Given the description of an element on the screen output the (x, y) to click on. 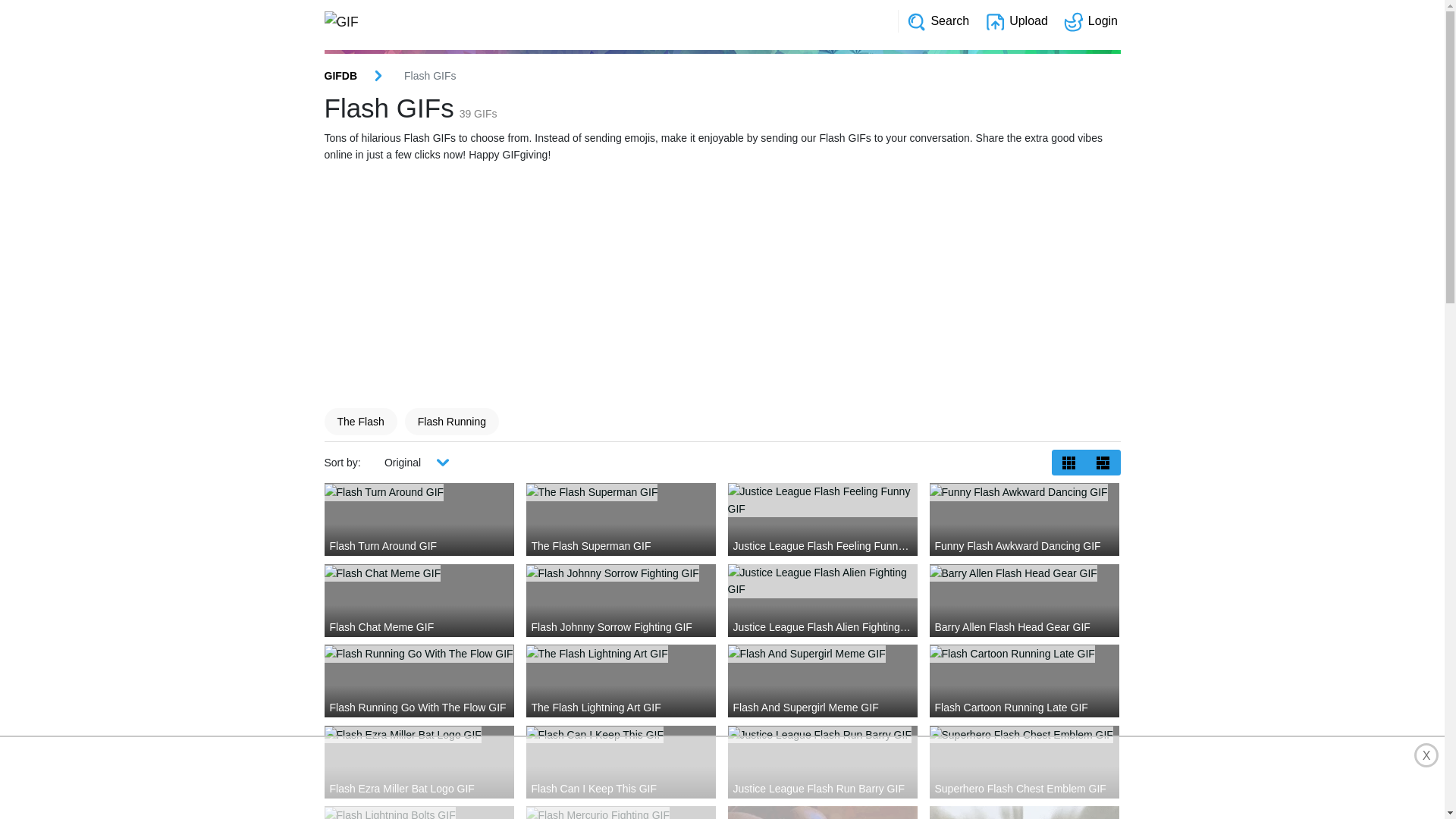
Flash Cartoon Running Late GIF Element type: hover (1024, 653)
GIFDB Element type: text (340, 75)
Flash Johnny Sorrow Fighting GIF Element type: hover (620, 572)
Superhero Flash Chest Emblem GIF Element type: hover (1024, 734)
Flash Can I Keep This GIF Element type: hover (620, 734)
The Flash Superman GIF Element type: hover (620, 491)
Flash Chat Meme GIF Element type: hover (419, 572)
Justice League Flash Feeling Funny GIF Element type: hover (822, 500)
Flash Running Element type: text (451, 421)
Flash Ezra Miller Bat Logo GIF Element type: hover (419, 734)
The Flash Lightning Art GIF Element type: hover (620, 653)
3rd party ad content Element type: hover (691, 288)
Justice League Flash Alien Fighting GIF Element type: hover (822, 581)
Justice League Flash Run Barry GIF Element type: hover (822, 734)
Barry Allen Flash Head Gear GIF Element type: hover (1024, 572)
The Flash Element type: text (359, 421)
Flash Running Go With The Flow GIF Element type: hover (419, 653)
3rd party ad content Element type: hover (721, 777)
Flash And Supergirl Meme GIF Element type: hover (822, 653)
Flash Turn Around GIF Element type: hover (419, 491)
Funny Flash Awkward Dancing GIF Element type: hover (1024, 491)
